Given the description of an element on the screen output the (x, y) to click on. 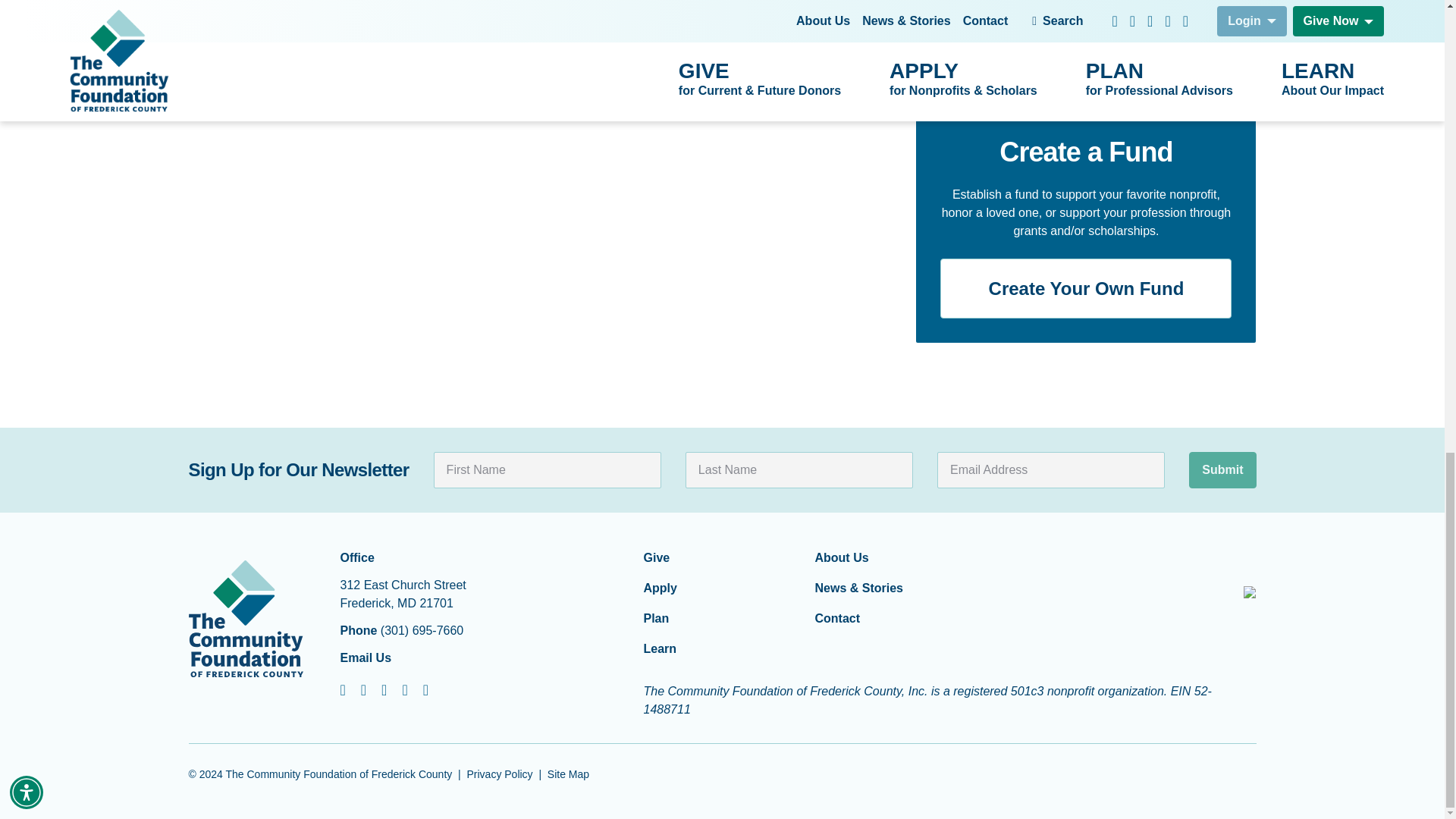
Submit (1222, 470)
